Given the description of an element on the screen output the (x, y) to click on. 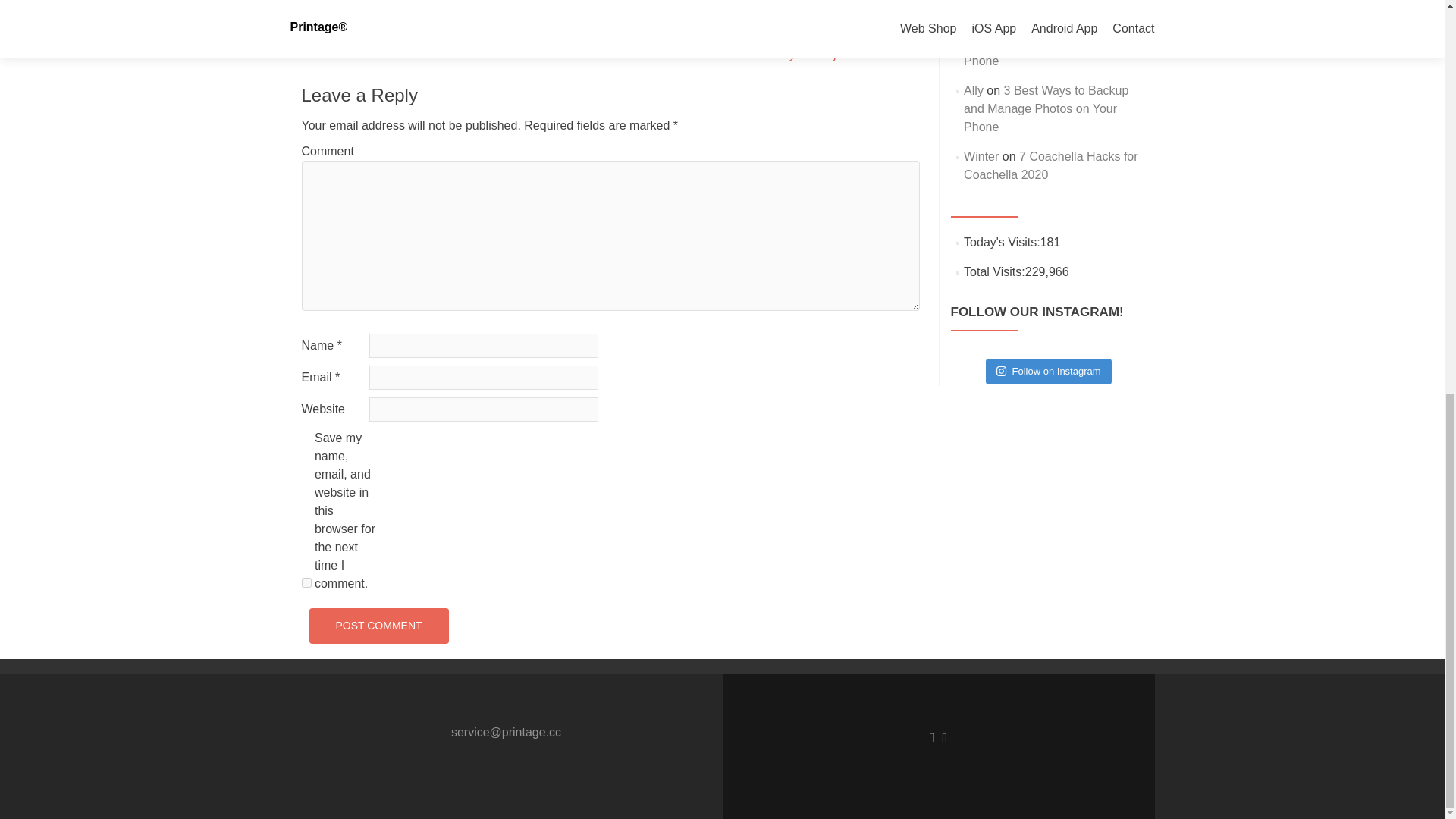
Post Comment (378, 625)
3 Best Ways to Backup and Manage Photos on Your Phone (1045, 108)
yes (306, 583)
Winter (980, 155)
Ally (973, 90)
Free Bitcoin Hack Script Latest 2017 (1047, 15)
3 Best Ways to Backup and Manage Photos on Your Phone (1049, 42)
7 Coachella Hacks for Coachella 2020 (1050, 164)
Post Comment (378, 625)
